Given the description of an element on the screen output the (x, y) to click on. 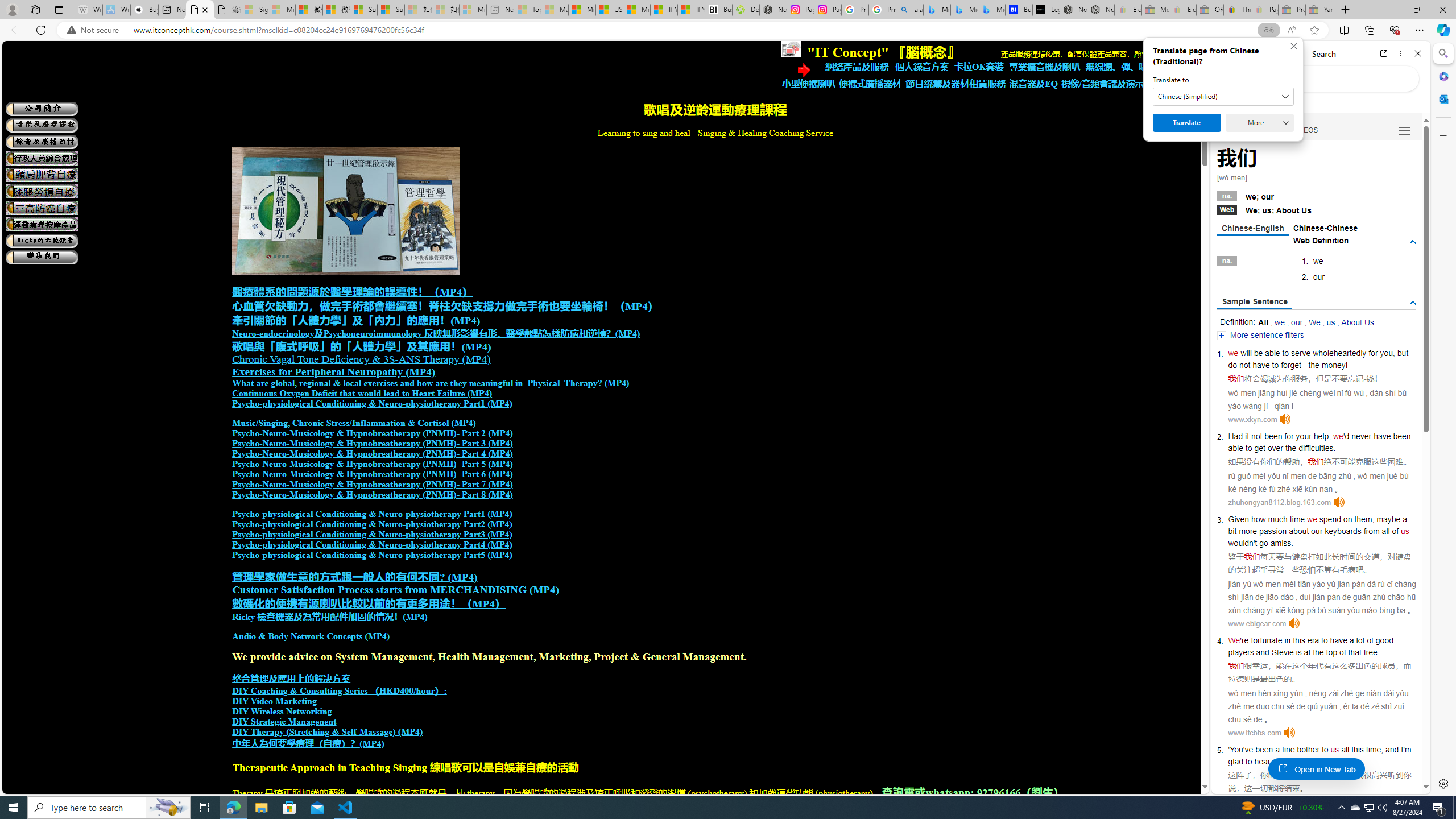
Preferences (1403, 129)
www.xkyn.com (1251, 419)
help (1321, 435)
serve (1300, 352)
